Given the description of an element on the screen output the (x, y) to click on. 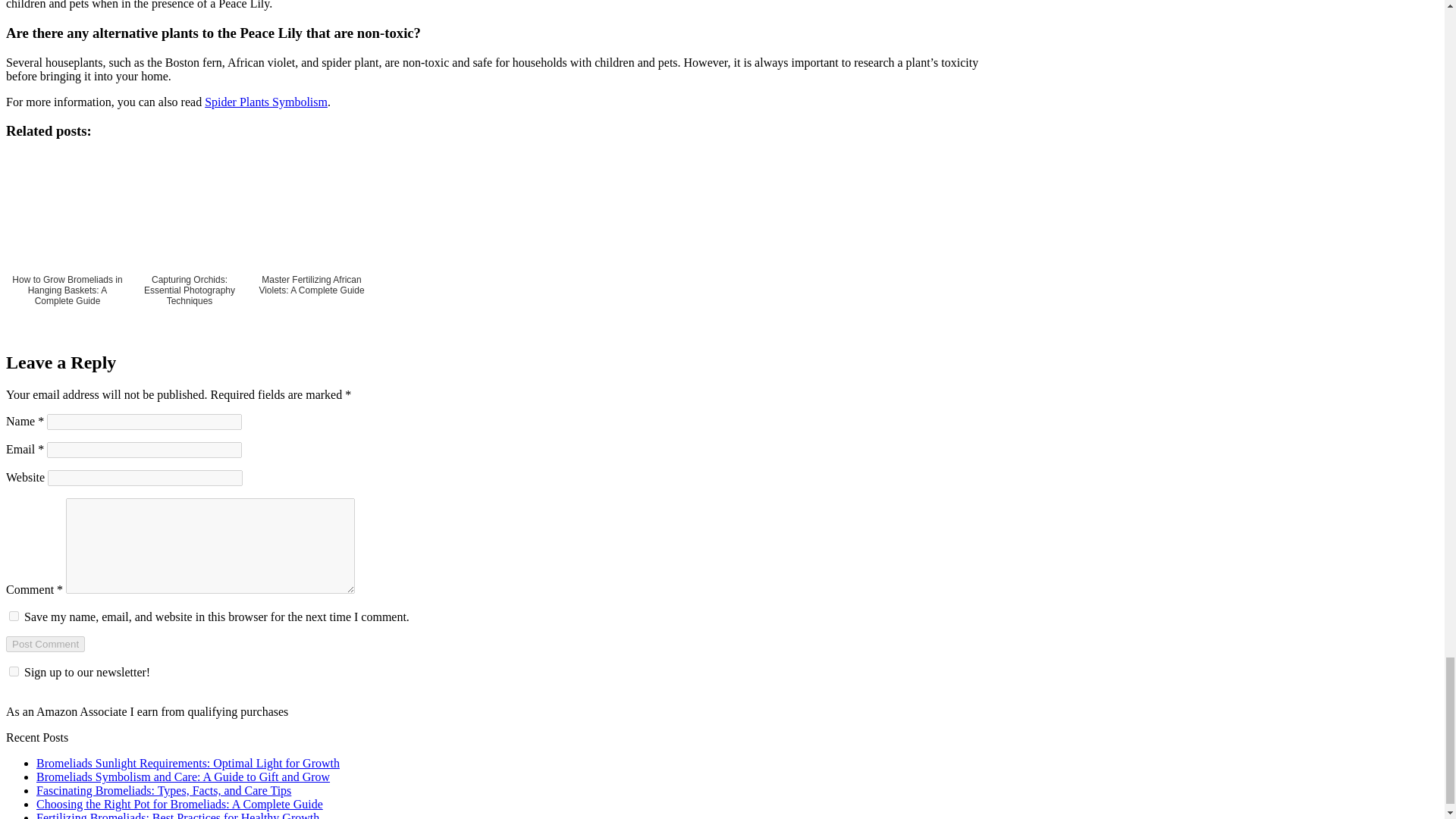
Spider Plants Symbolism (266, 101)
Post Comment (44, 643)
Fascinating Bromeliads: Types, Facts, and Care Tips (163, 789)
yes (13, 615)
Choosing the Right Pot for Bromeliads: A Complete Guide (179, 803)
Post Comment (44, 643)
Bromeliads Sunlight Requirements: Optimal Light for Growth (187, 762)
Bromeliads Symbolism and Care: A Guide to Gift and Grow (183, 776)
1 (13, 671)
